Given the description of an element on the screen output the (x, y) to click on. 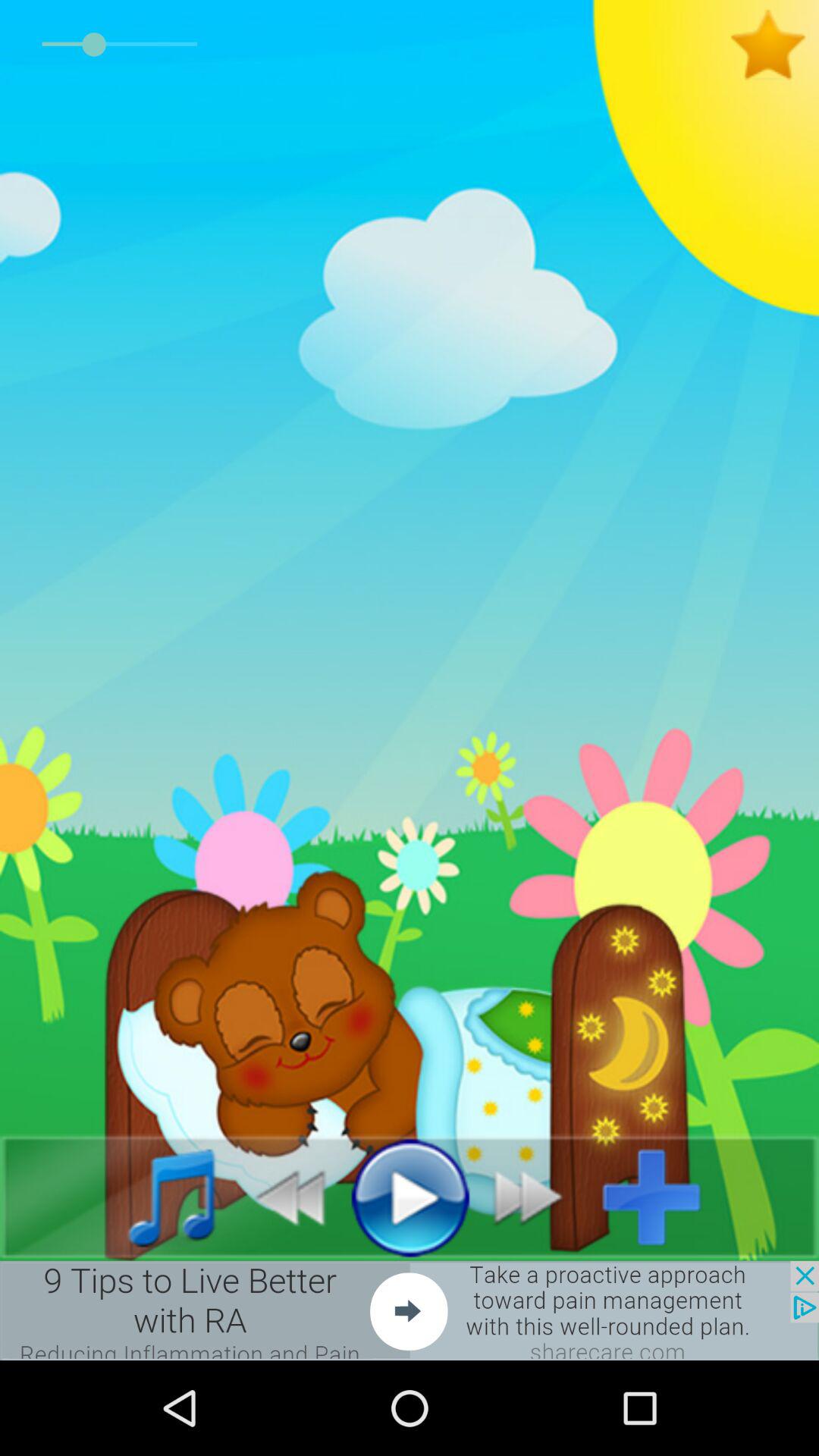
go to music (154, 1196)
